Given the description of an element on the screen output the (x, y) to click on. 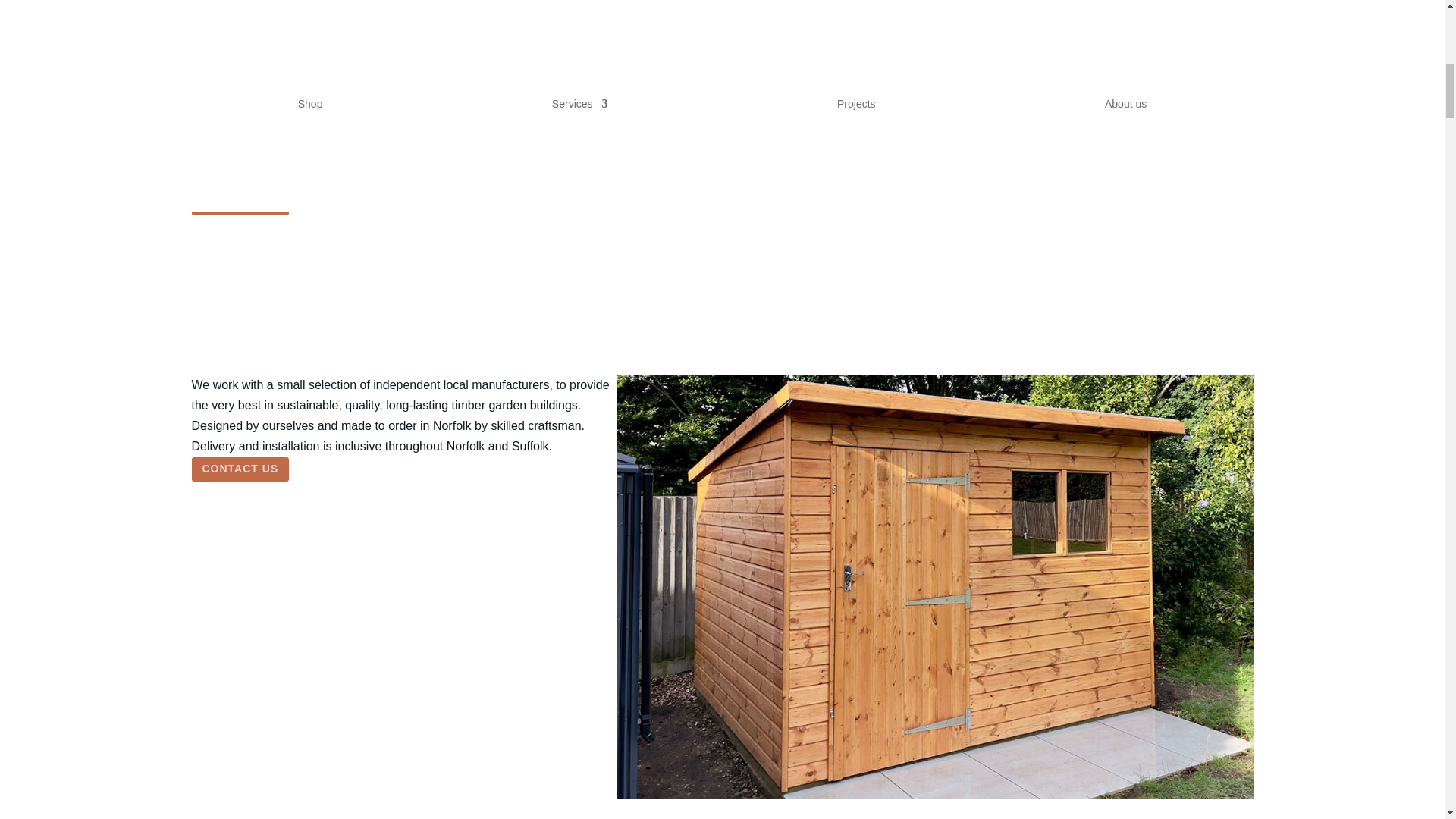
CONTACT US (239, 469)
CONTACT US (239, 202)
Services (579, 103)
